Given the description of an element on the screen output the (x, y) to click on. 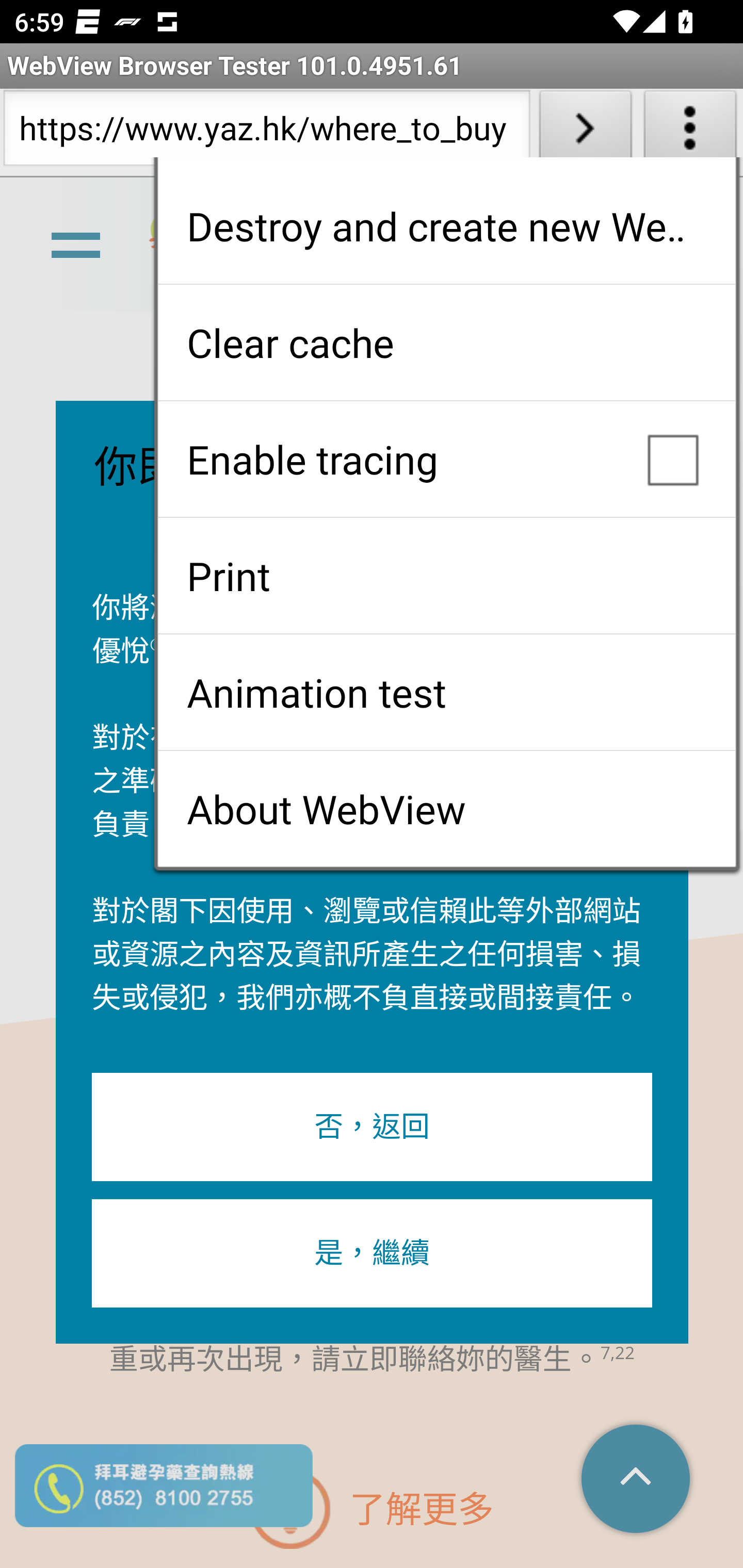
Destroy and create new WebView (446, 225)
Clear cache (446, 342)
Enable tracing (446, 459)
Print (446, 575)
Animation test (446, 692)
About WebView (446, 809)
